Given the description of an element on the screen output the (x, y) to click on. 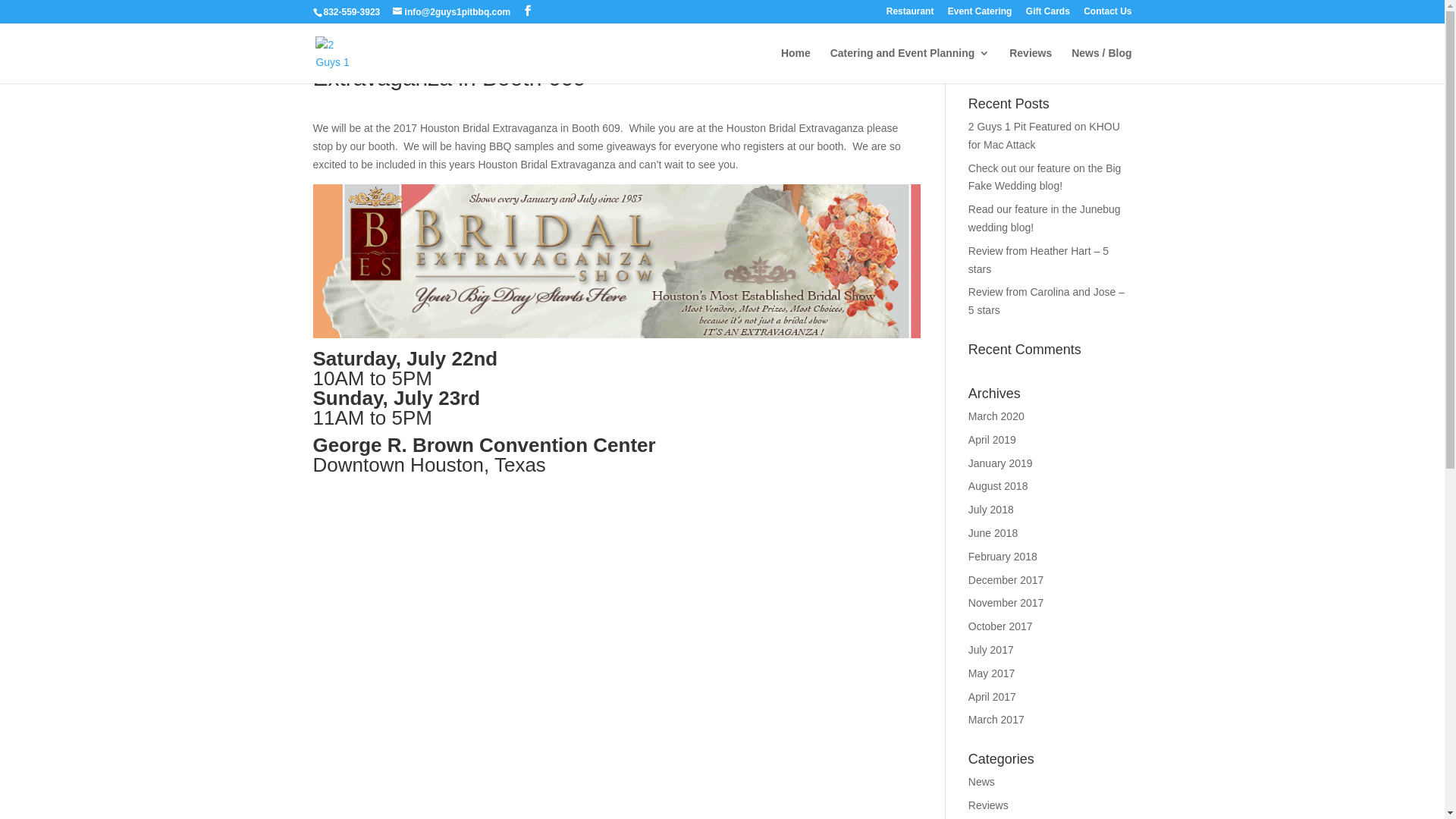
Check out our feature on the Big Fake Wedding blog! Element type: text (1044, 177)
Catering and Event Planning Element type: text (910, 65)
June 2018 Element type: text (992, 533)
2 Guys 1 Pit Featured on KHOU for Mac Attack Element type: text (1044, 135)
Restaurant Element type: text (910, 14)
October 2017 Element type: text (1000, 626)
Search Element type: text (1107, 58)
Reviews Element type: text (988, 805)
July 2018 Element type: text (990, 509)
Read our feature in the Junebug wedding blog! Element type: text (1044, 218)
March 2017 Element type: text (996, 719)
March 2020 Element type: text (996, 416)
August 2018 Element type: text (998, 486)
April 2019 Element type: text (992, 439)
January 2019 Element type: text (1000, 463)
Event Catering Element type: text (979, 14)
Gift Cards Element type: text (1048, 14)
Reviews Element type: text (1030, 65)
November 2017 Element type: text (1006, 602)
February 2018 Element type: text (1002, 556)
July 2017 Element type: text (990, 649)
News / Blog Element type: text (1101, 65)
Home Element type: text (795, 65)
December 2017 Element type: text (1006, 580)
May 2017 Element type: text (991, 673)
April 2017 Element type: text (992, 696)
Contact Us Element type: text (1107, 14)
info@2guys1pitbbq.com Element type: text (451, 11)
News Element type: text (981, 781)
